Given the description of an element on the screen output the (x, y) to click on. 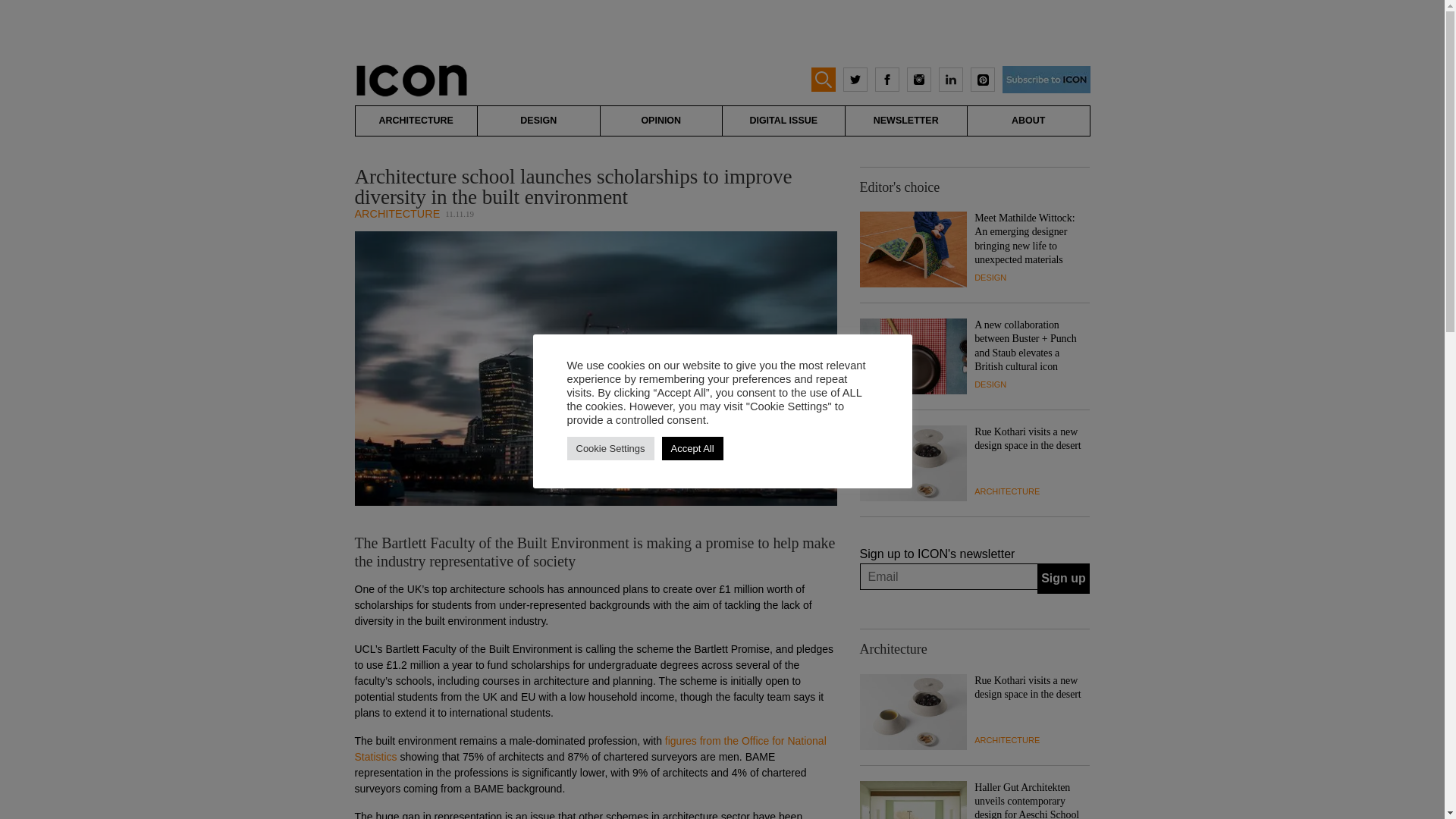
ARCHITECTURE (398, 214)
Search (25, 9)
Sign up (1062, 578)
OPINION (660, 120)
DIGITAL ISSUE (783, 120)
DESIGN (990, 276)
ABOUT (1028, 120)
NEWSLETTER (905, 120)
figures from the Office for National Statistics (591, 748)
DESIGN (538, 120)
DESIGN (990, 384)
ARCHITECTURE (1006, 491)
ARCHITECTURE (416, 120)
